Given the description of an element on the screen output the (x, y) to click on. 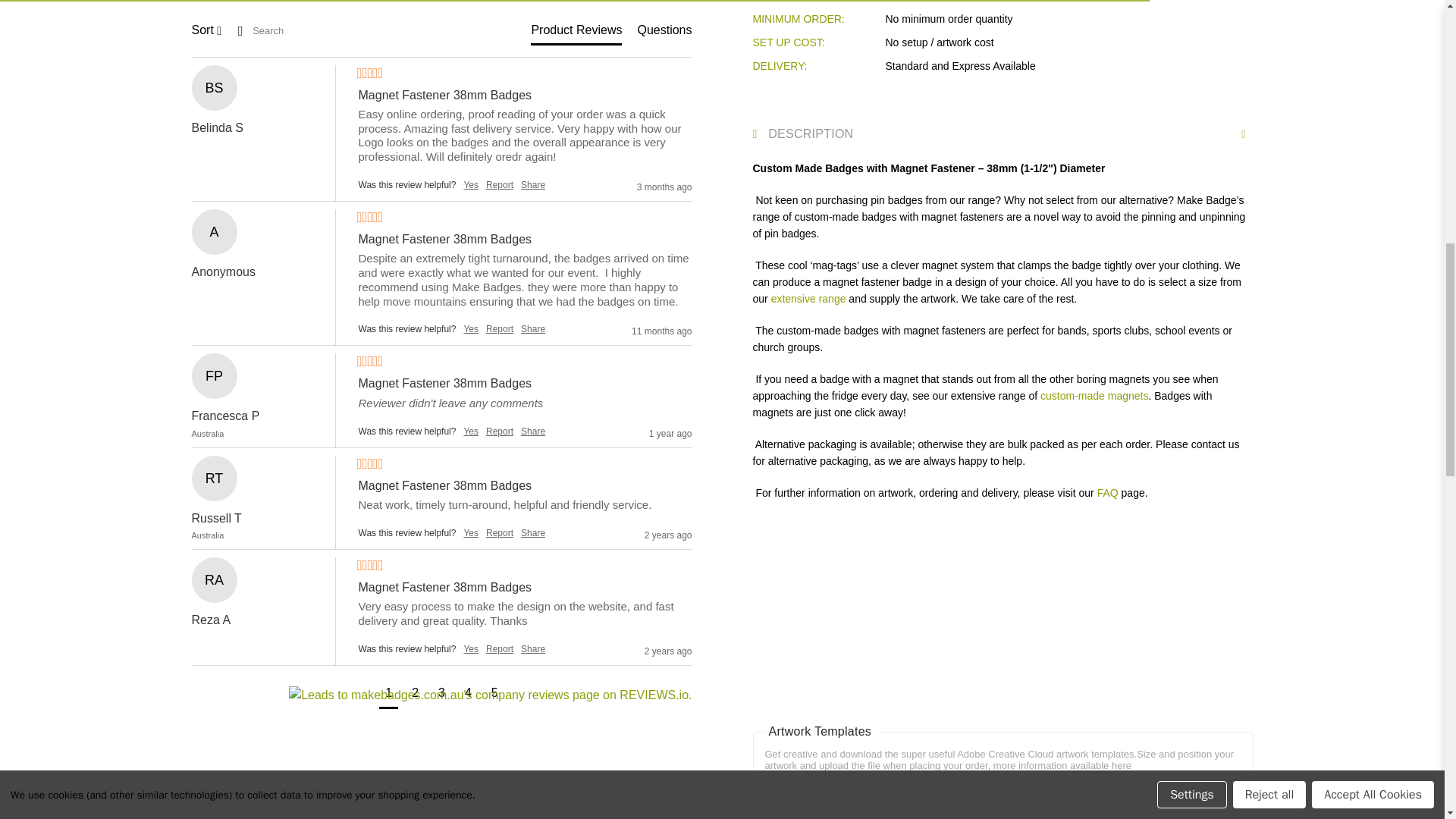
5 Stars (369, 566)
5 Stars (369, 361)
5 Stars (369, 464)
5 Stars (369, 74)
Search (289, 30)
5 Stars (369, 218)
